Given the description of an element on the screen output the (x, y) to click on. 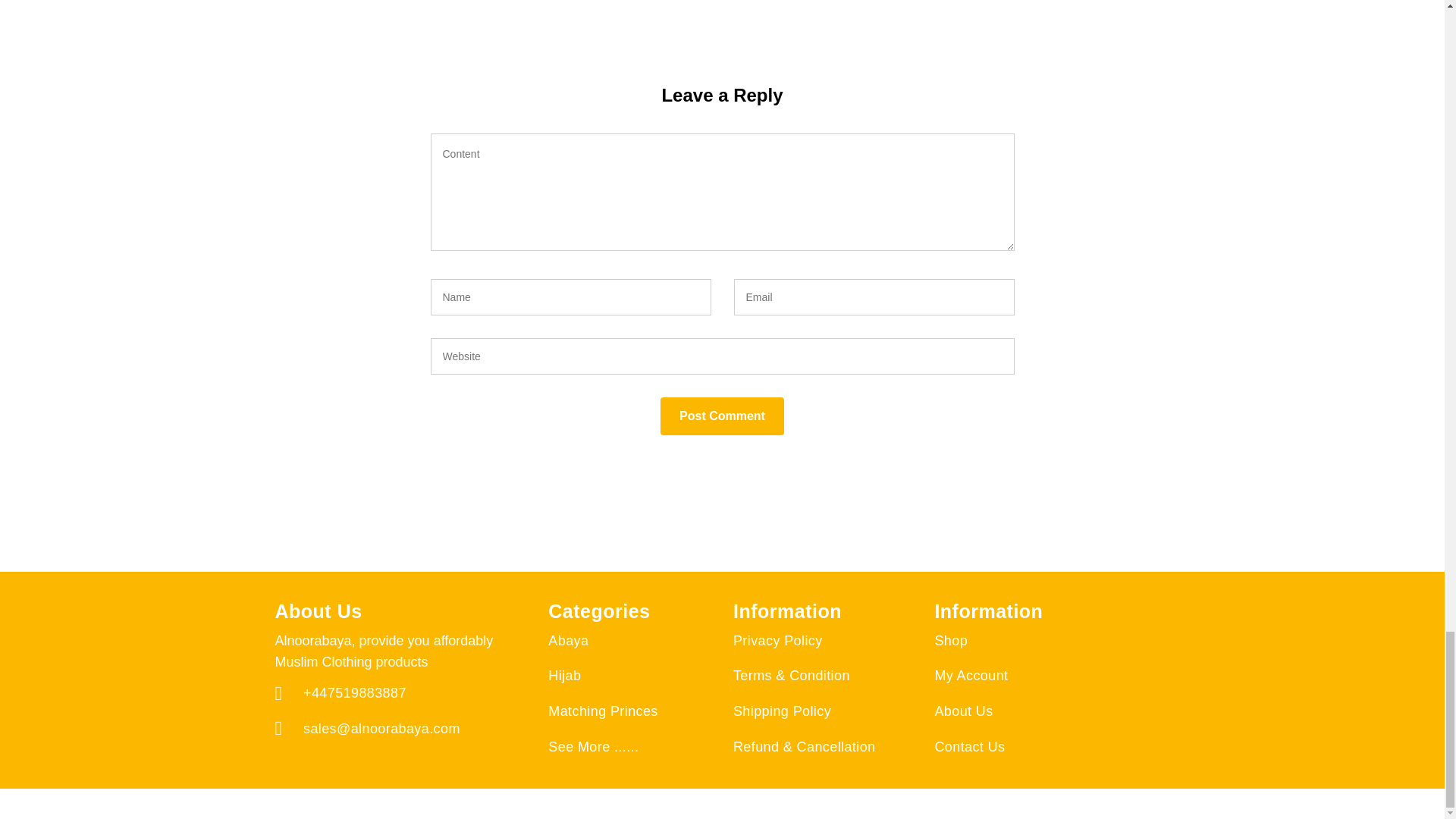
Post Comment (722, 415)
